Given the description of an element on the screen output the (x, y) to click on. 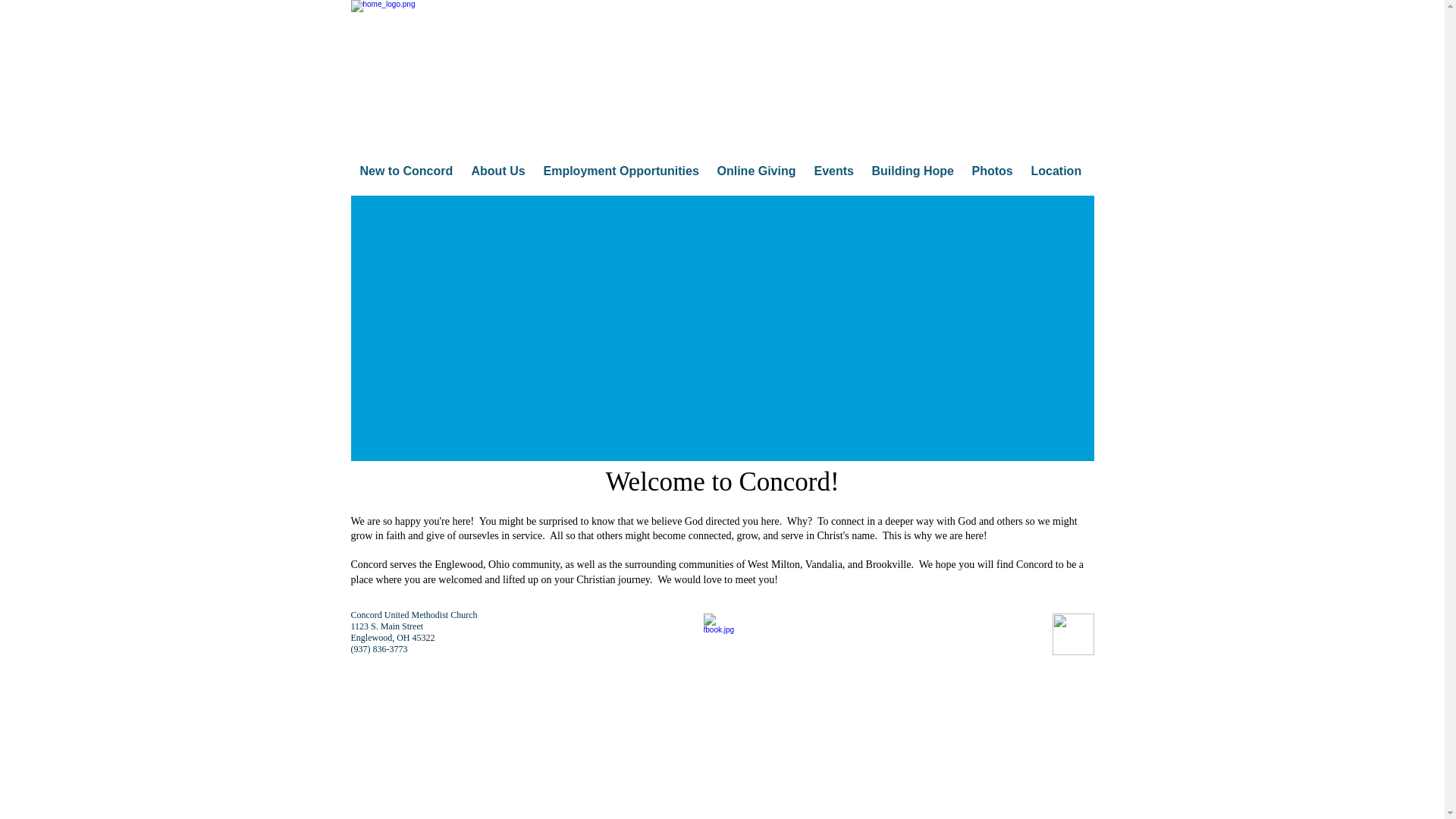
Building Hope (912, 171)
About Us (498, 171)
Events (834, 171)
New to Concord (405, 171)
Photos (992, 171)
Location (1056, 171)
Employment Opportunities (620, 171)
Online Giving (756, 171)
